Given the description of an element on the screen output the (x, y) to click on. 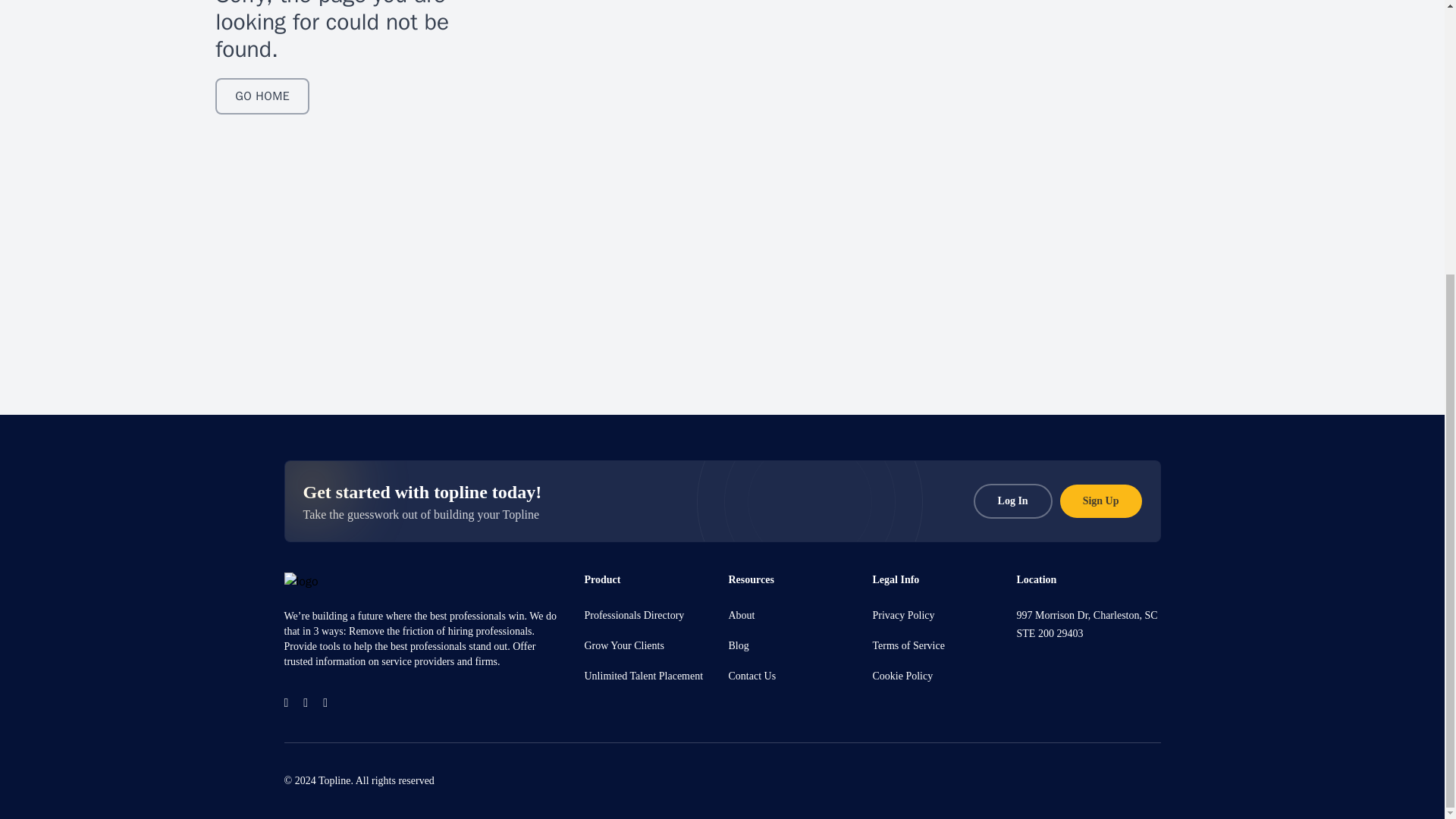
Privacy Policy (903, 614)
Unlimited Talent Placement (643, 675)
Terms of Service (907, 645)
Log In (1013, 501)
About (741, 614)
Blog (738, 645)
GO HOME (261, 95)
Contact Us (752, 675)
Professionals Directory (633, 614)
Cookie Policy (902, 675)
